Given the description of an element on the screen output the (x, y) to click on. 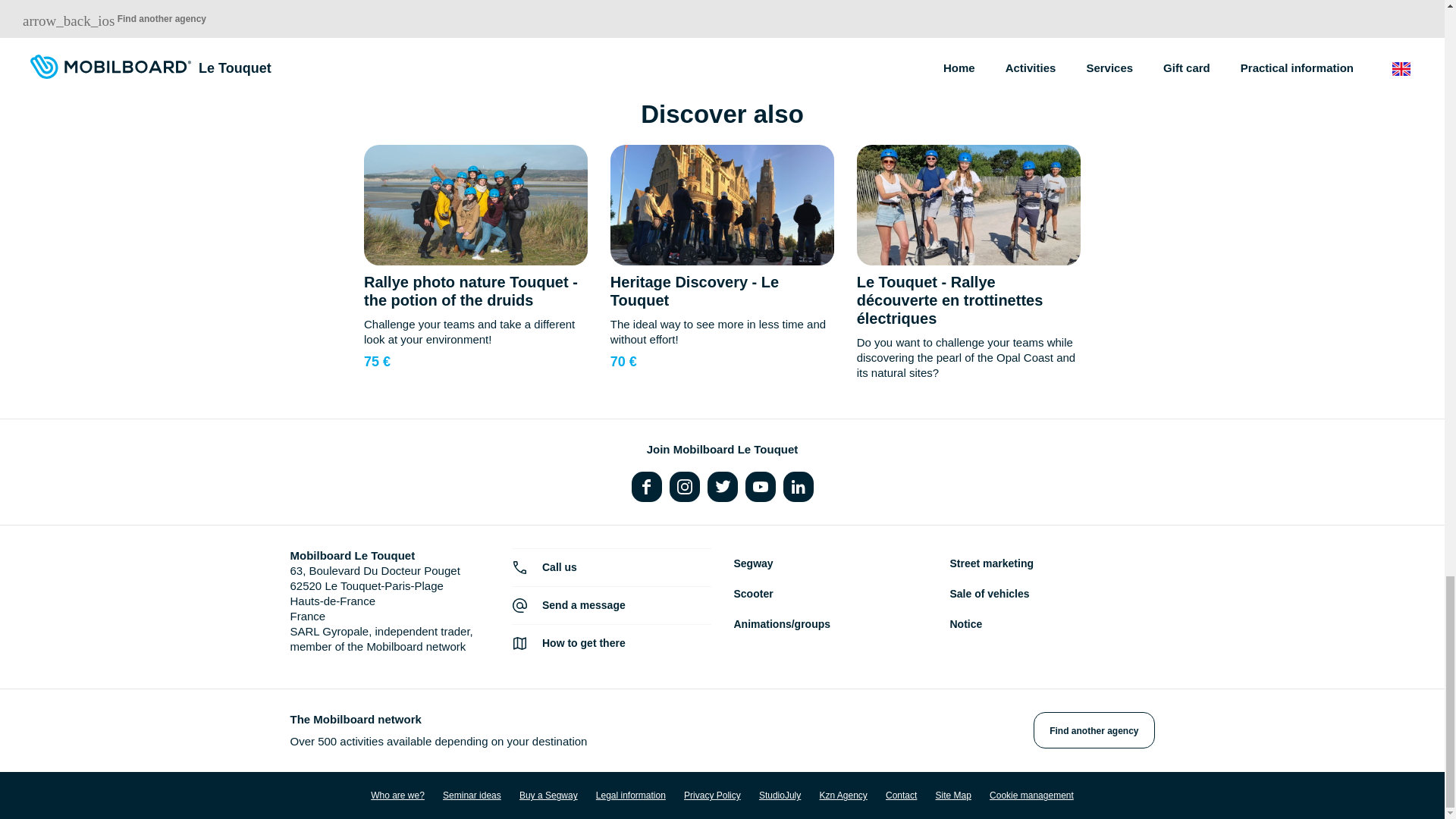
Notice (965, 623)
Segway (753, 563)
Heritage Discovery - Le Touquet (694, 290)
Heritage Discovery - Le Touquet (694, 290)
Who are we? (398, 795)
Rallye photo nature Touquet - the potion of the druids (471, 290)
Scooter (753, 593)
Find another agency (1093, 729)
Sale of vehicles (989, 593)
Send a message (611, 605)
